Given the description of an element on the screen output the (x, y) to click on. 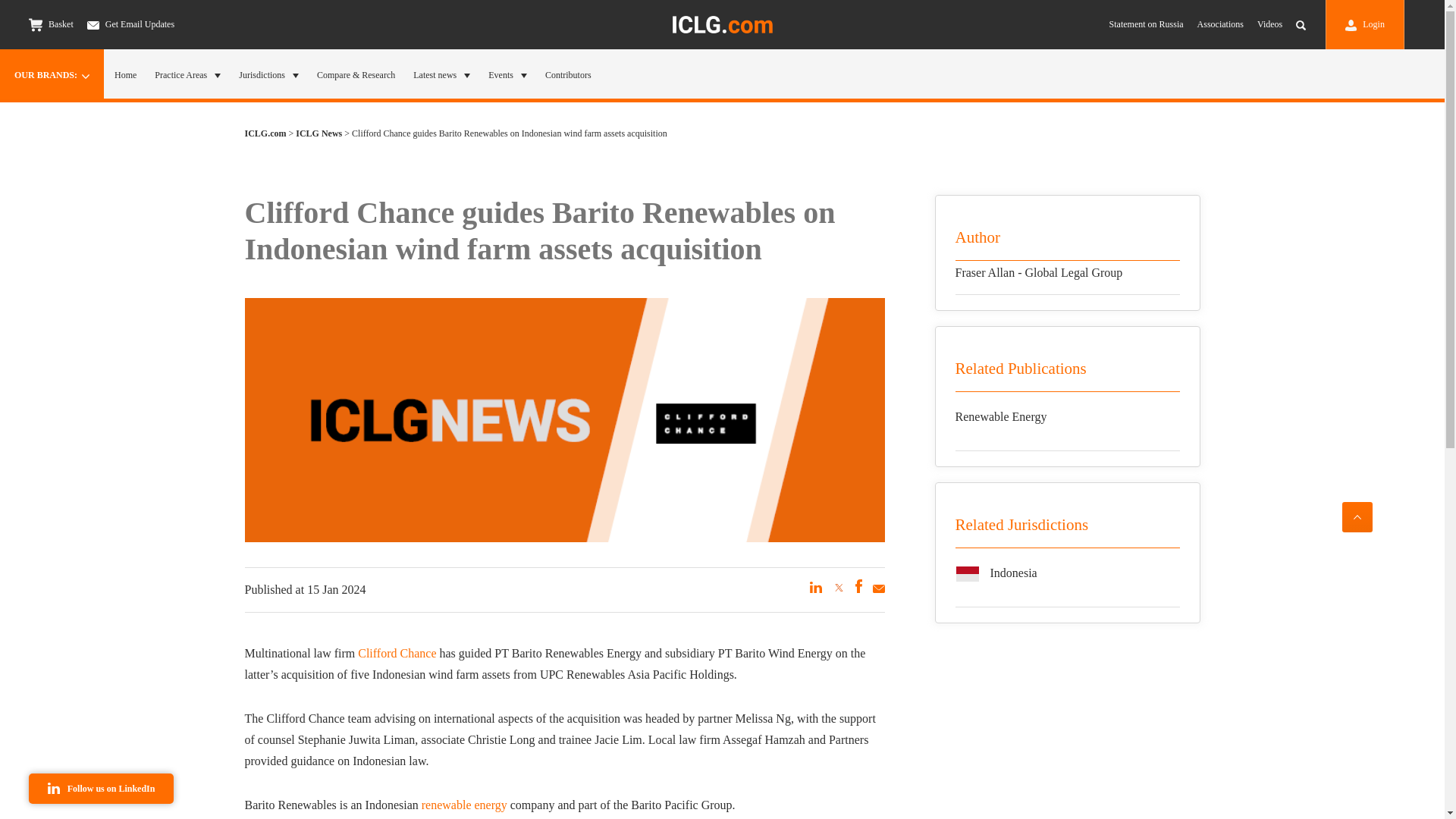
Basket (51, 24)
Statement on Russia (1146, 24)
Get Email Updates (130, 24)
Jurisdictions (268, 74)
Associations (1219, 24)
View basket (35, 24)
Login (1364, 24)
OUR BRANDS: (51, 74)
Practice Areas (187, 74)
Latest news (441, 74)
